Given the description of an element on the screen output the (x, y) to click on. 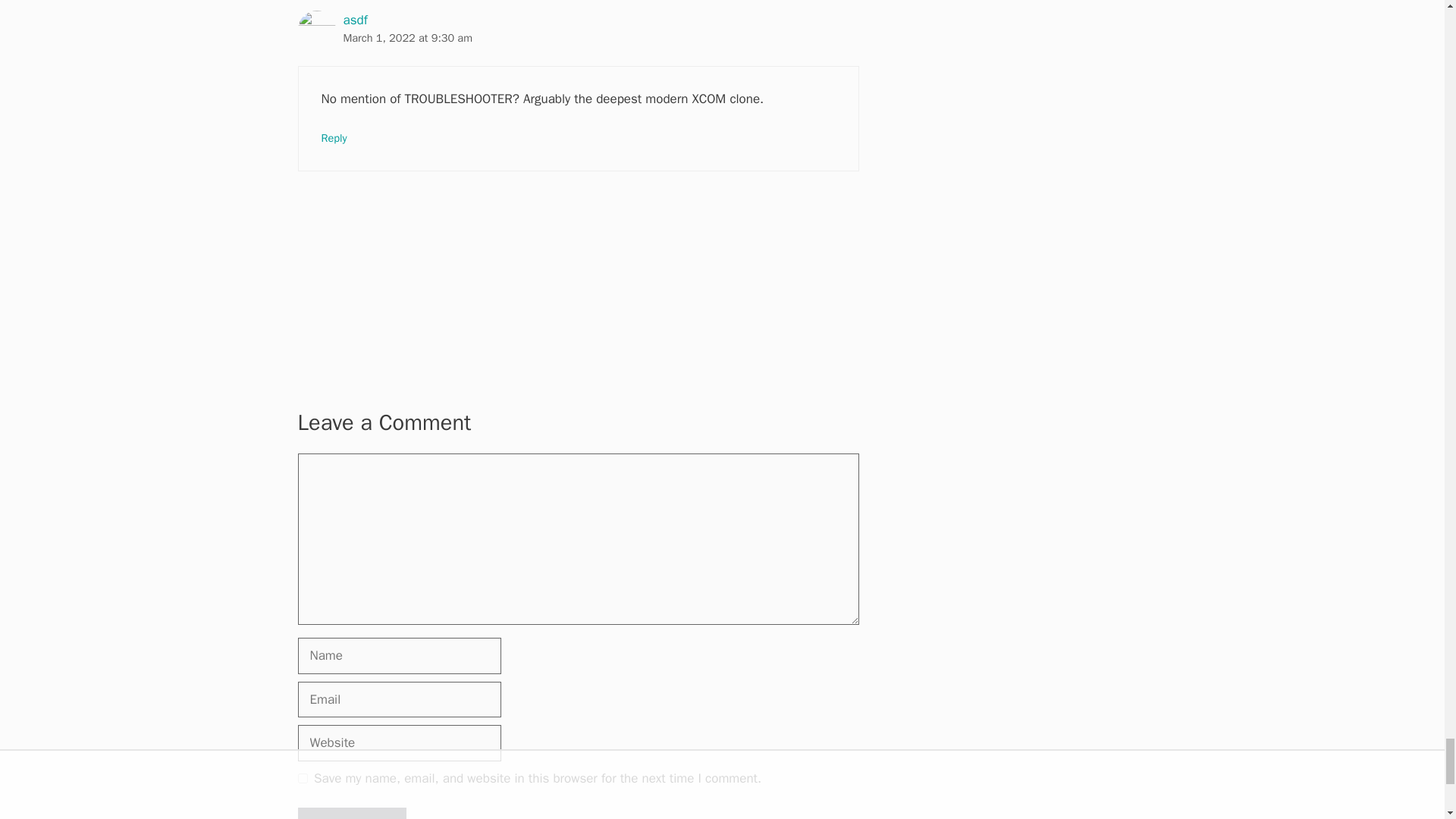
yes (302, 777)
Post Comment (351, 813)
